Given the description of an element on the screen output the (x, y) to click on. 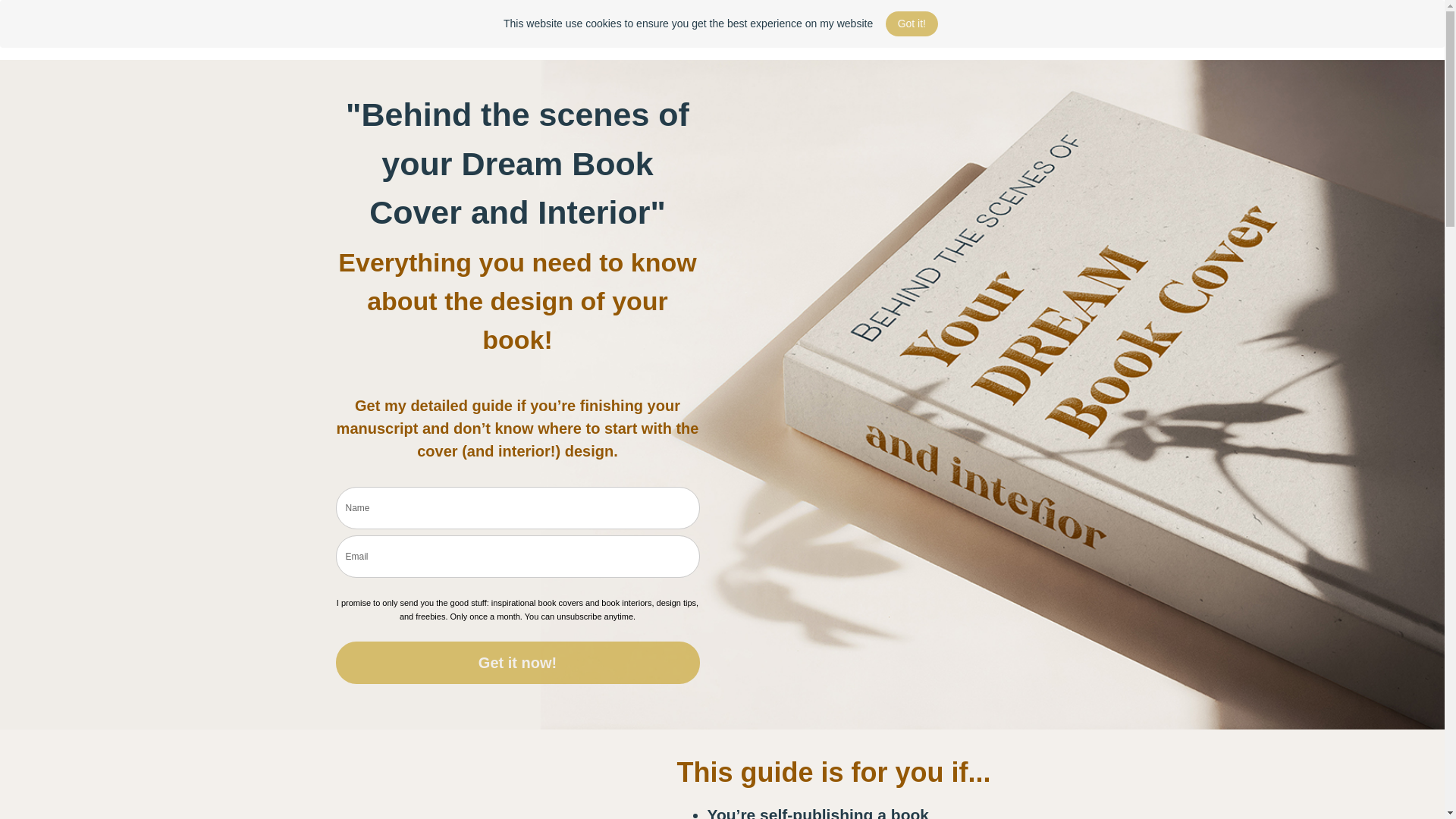
Got it! (911, 23)
Get it now! (516, 662)
